Given the description of an element on the screen output the (x, y) to click on. 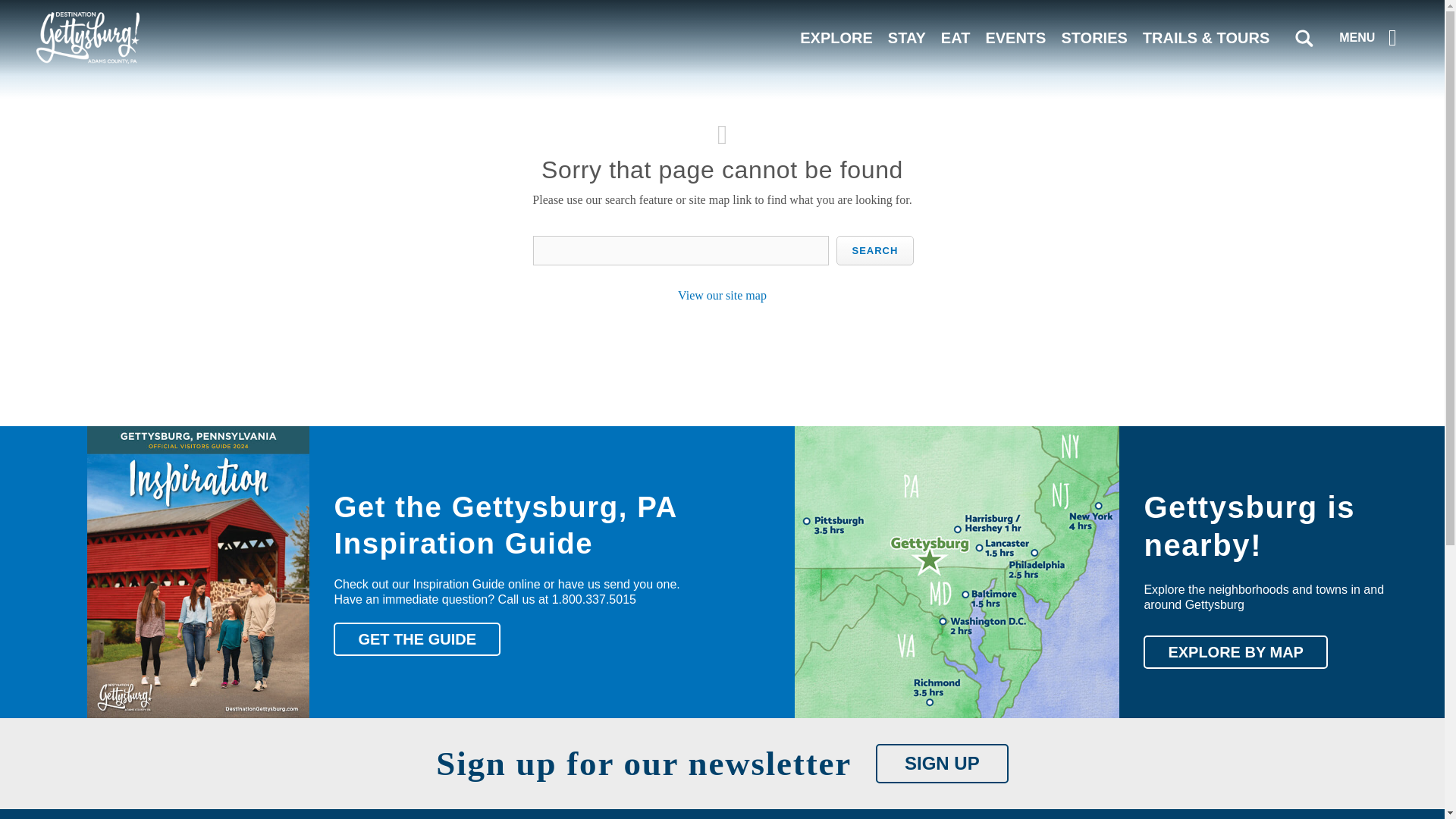
EXPLORE (835, 37)
STAY (907, 37)
EVENTS (1015, 37)
EAT (955, 37)
MENU (1371, 37)
STORIES (1093, 37)
